Given the description of an element on the screen output the (x, y) to click on. 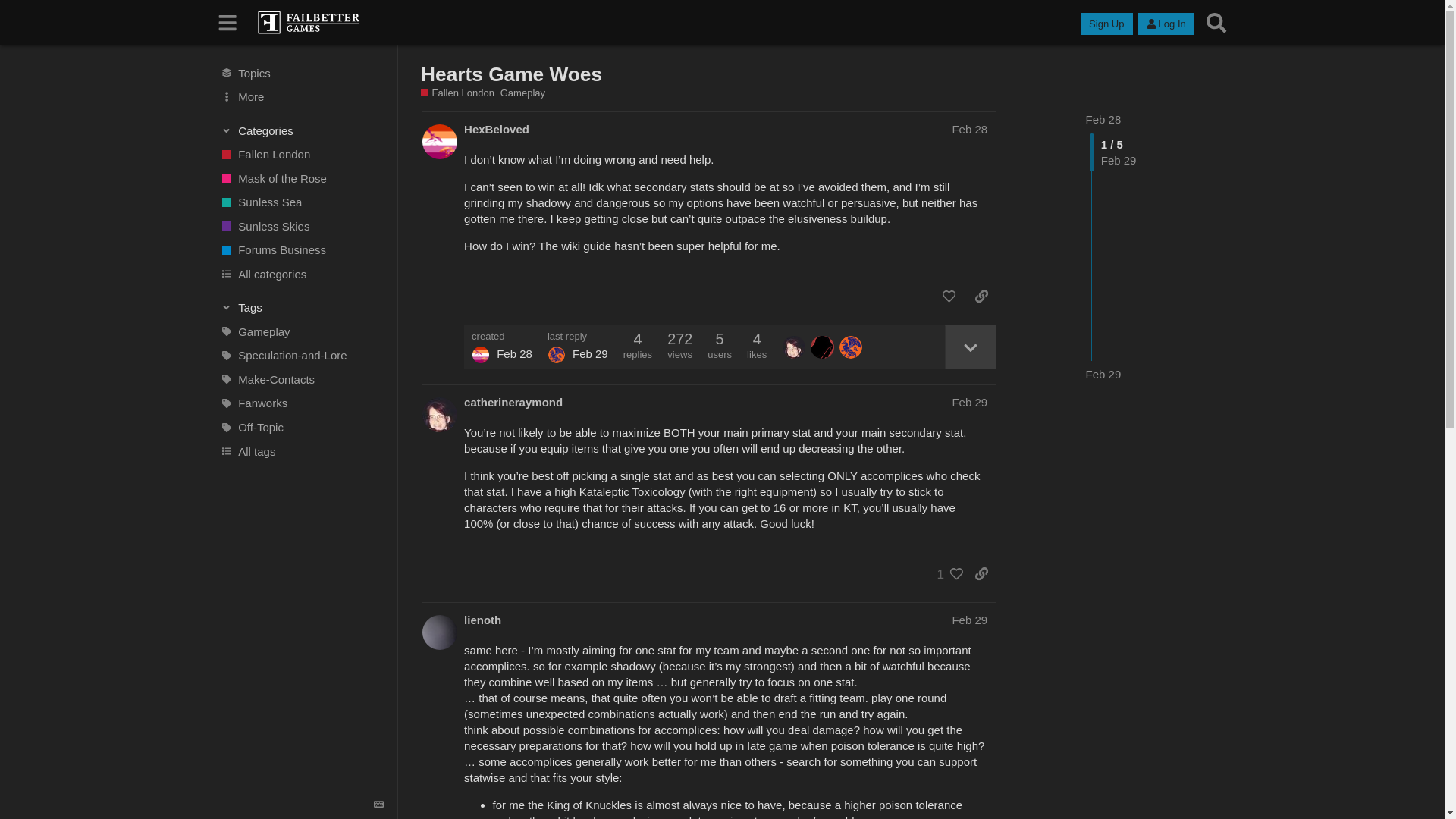
More (301, 96)
Fallen London (457, 92)
Mask of the Rose (301, 178)
Gameplay (301, 331)
Feb 28 (1103, 119)
Feb 29, 2024 12:50 pm (1103, 373)
For spoilery discussion of deeper lore and theorising. (301, 355)
Sunless Skies (301, 225)
All topics (301, 72)
Fanworks (301, 403)
Off-Topic (301, 427)
Hearts Game Woes (511, 74)
Gameplay (522, 92)
Sidebar (227, 22)
